Given the description of an element on the screen output the (x, y) to click on. 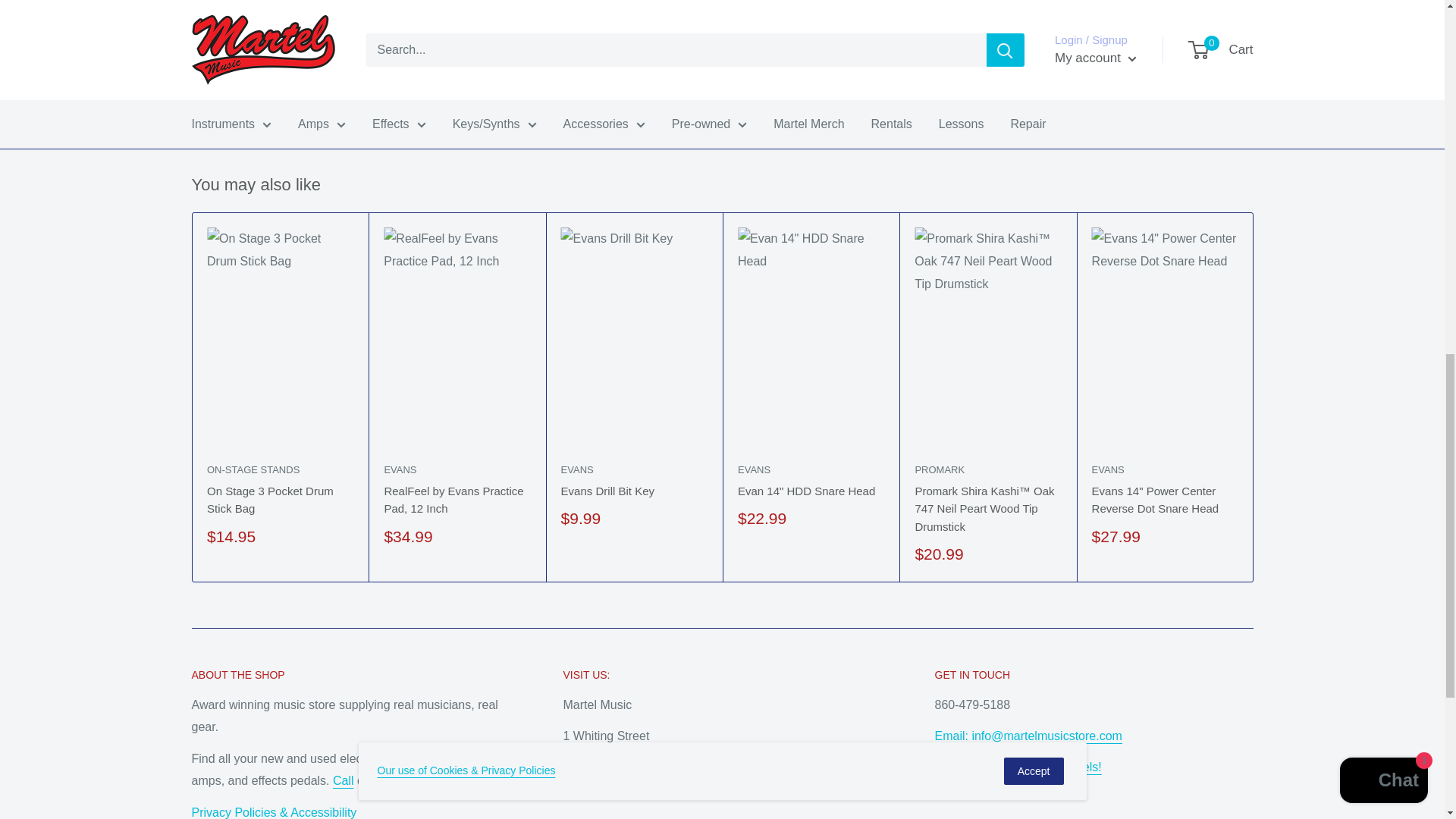
Privacy Policy (273, 811)
